Given the description of an element on the screen output the (x, y) to click on. 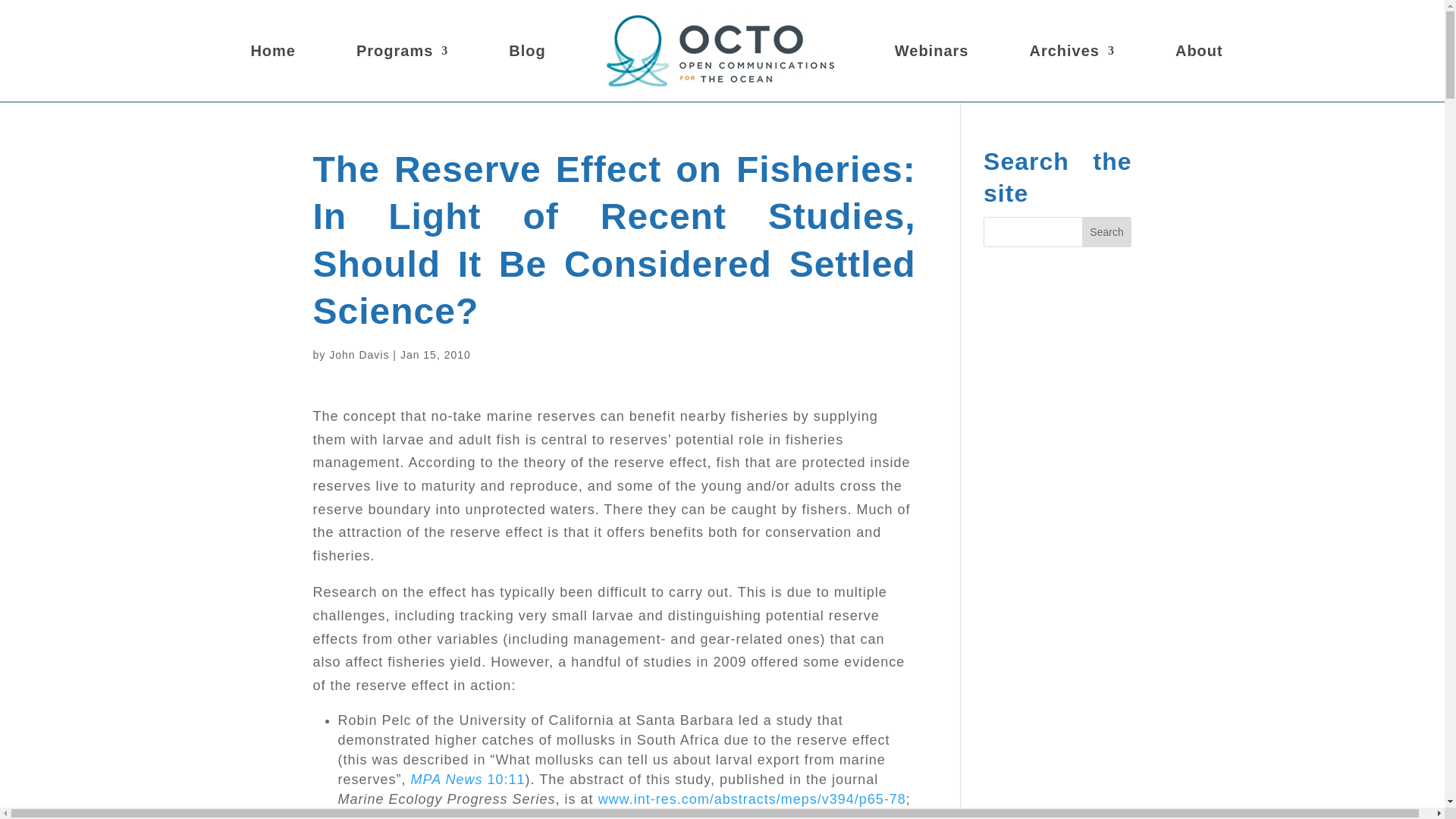
Search (1106, 232)
Search (1106, 232)
Archives (1072, 50)
MPA News 10:11 (467, 779)
Posts by John Davis (358, 354)
John Davis (358, 354)
Programs (402, 50)
Webinars (932, 50)
